Given the description of an element on the screen output the (x, y) to click on. 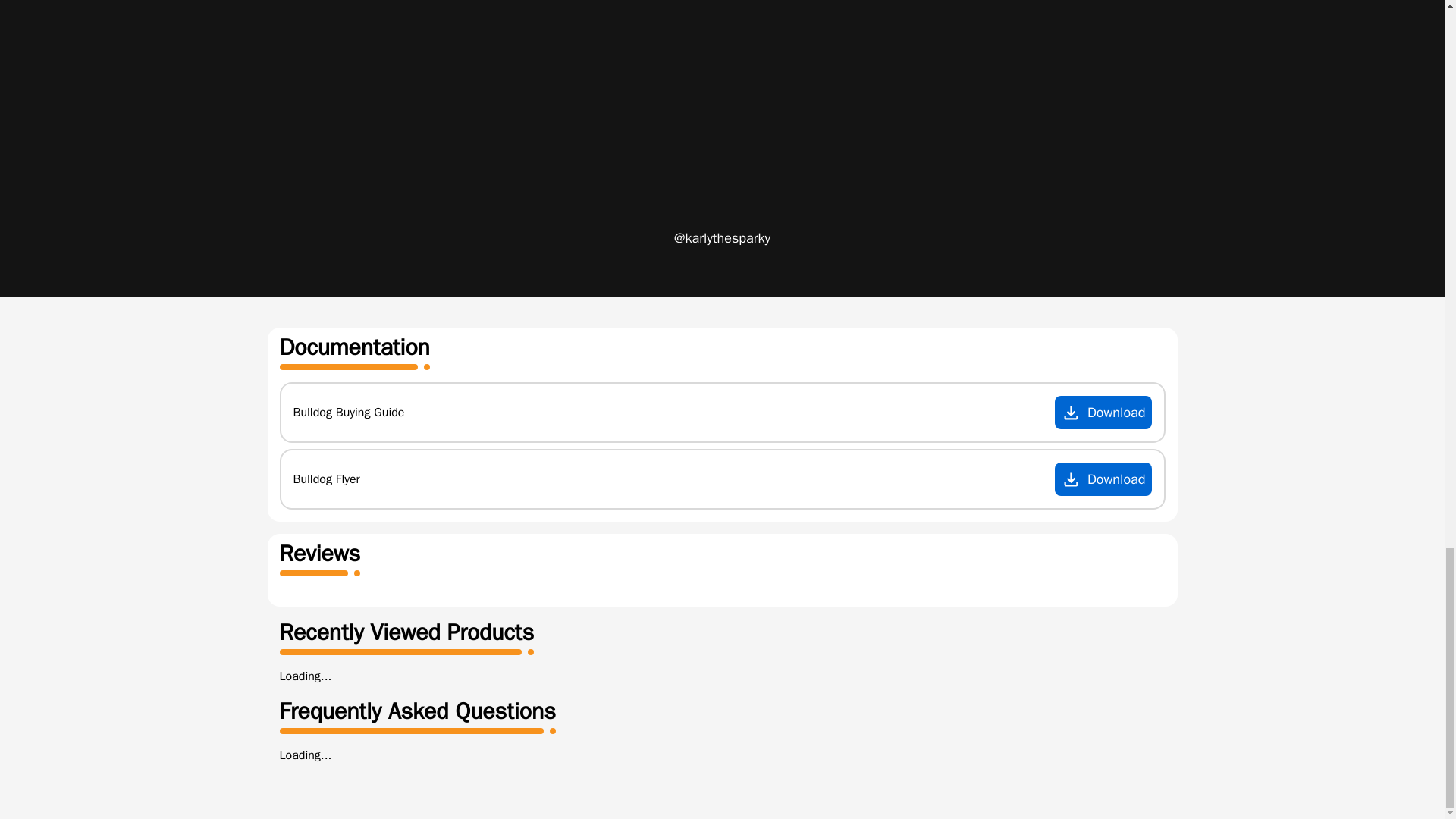
Download (1102, 479)
Download (1102, 412)
